Given the description of an element on the screen output the (x, y) to click on. 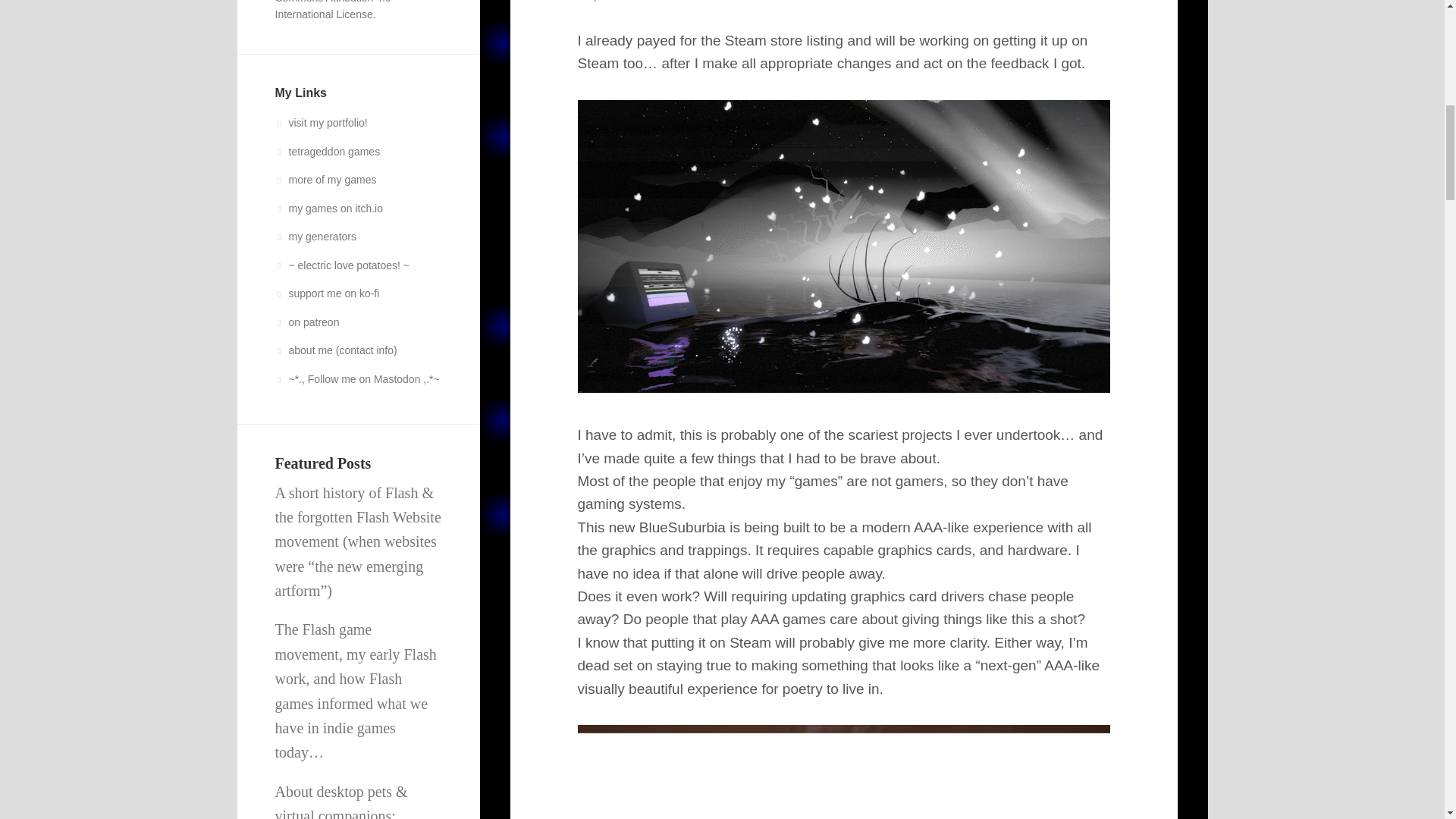
buy me a coffee on ko-fi (326, 293)
My portfolio (320, 122)
more of my games (325, 179)
visit my portfolio! (320, 122)
the official potatoware website (342, 265)
tetrageddon games (327, 151)
my generators and procgen experiments (315, 236)
my games on itch.io (328, 207)
my games on itch.io (328, 207)
on patreon (307, 321)
tetrageddon games (327, 151)
Creative Commons Attribution 4.0 International (334, 10)
my generators (315, 236)
even more of my games (325, 179)
support me on ko-fi (326, 293)
